Given the description of an element on the screen output the (x, y) to click on. 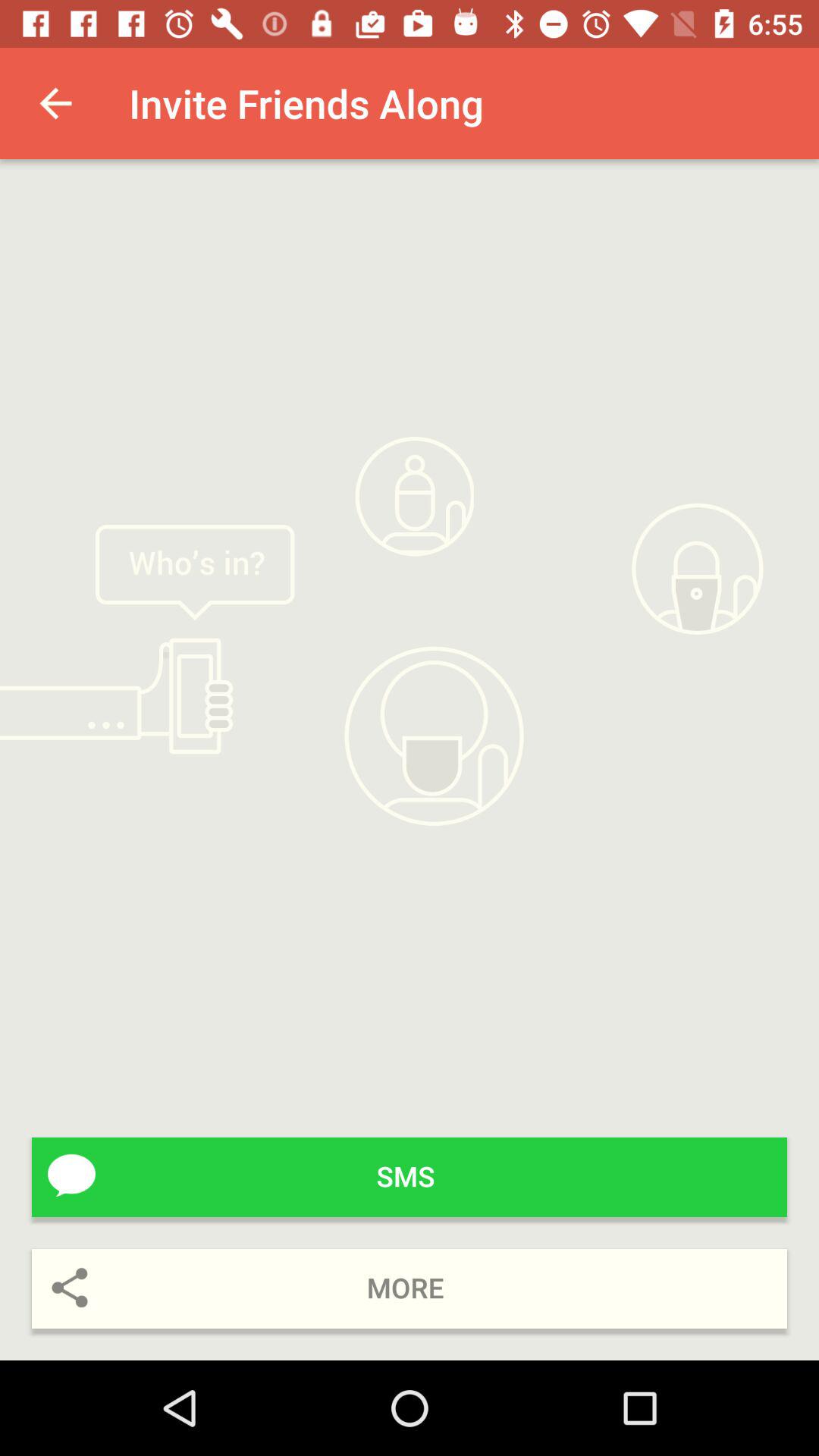
jump until more icon (409, 1288)
